Given the description of an element on the screen output the (x, y) to click on. 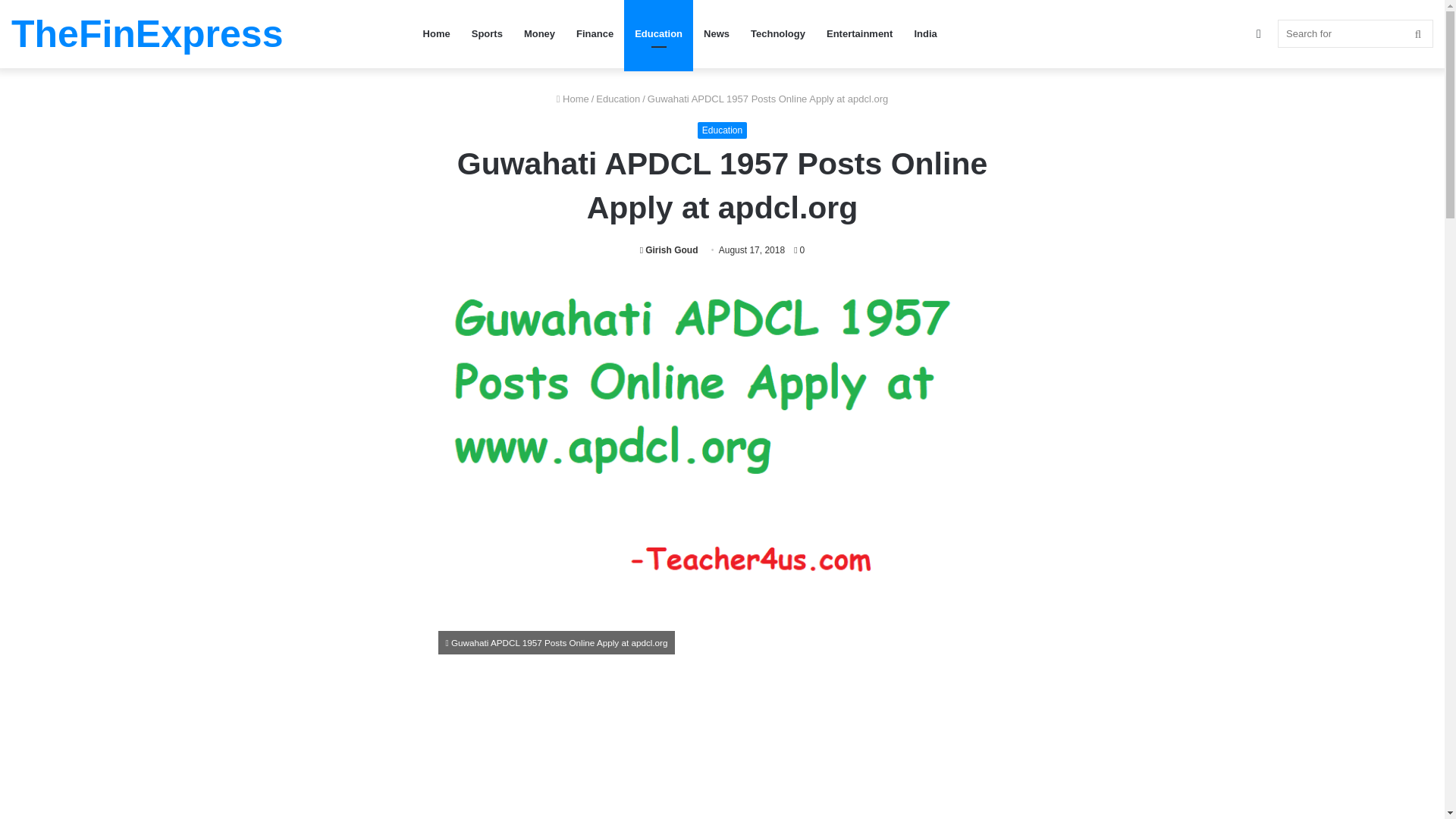
Education (658, 33)
TheFinExpress (146, 34)
Entertainment (858, 33)
Girish Goud (669, 249)
Education (721, 130)
Search for (1355, 33)
Advertisement (722, 751)
Technology (777, 33)
TheFinExpress (146, 34)
Education (617, 98)
Girish Goud (669, 249)
Home (572, 98)
